Given the description of an element on the screen output the (x, y) to click on. 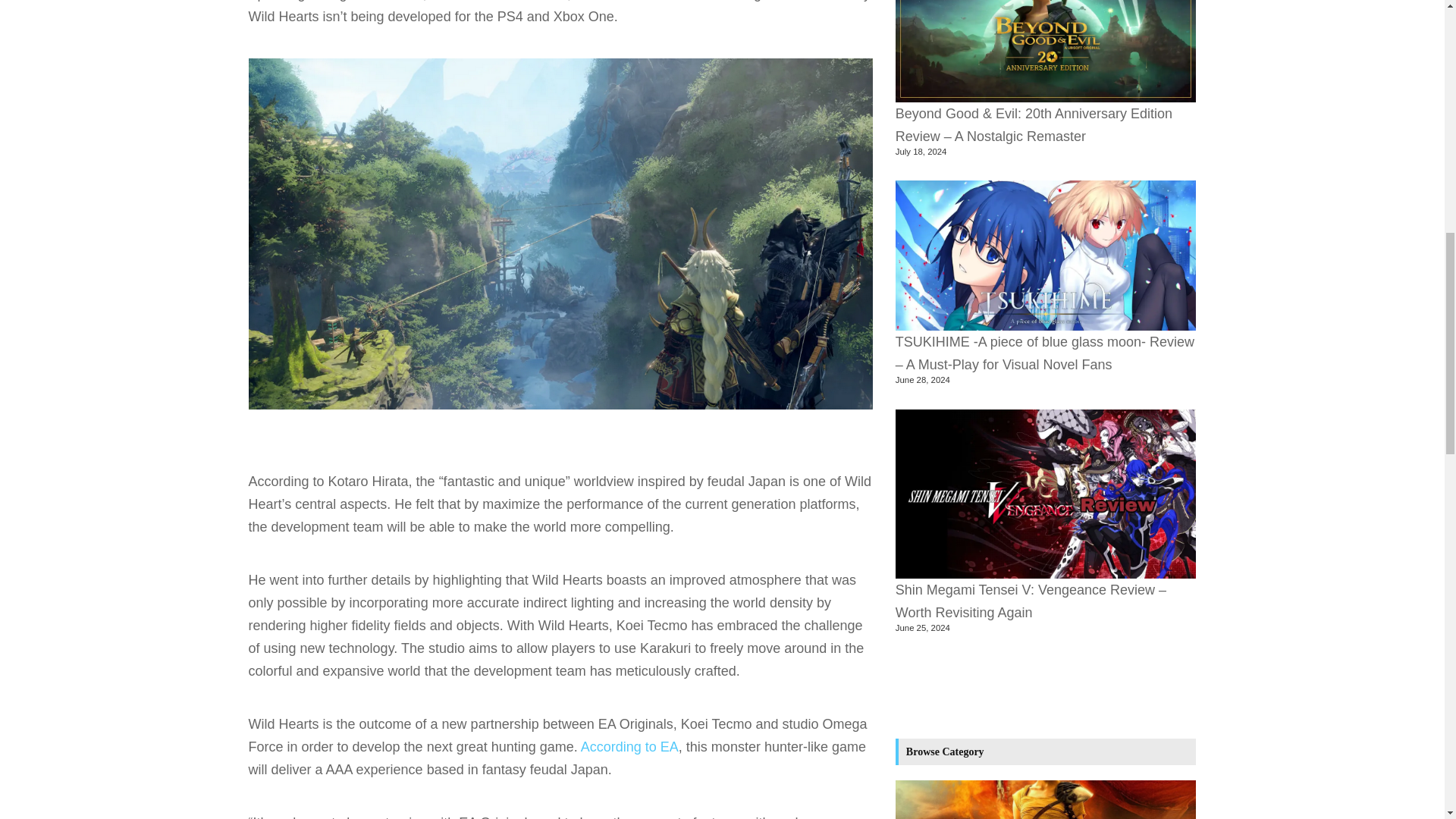
According to EA (629, 746)
interview (396, 0)
